Given the description of an element on the screen output the (x, y) to click on. 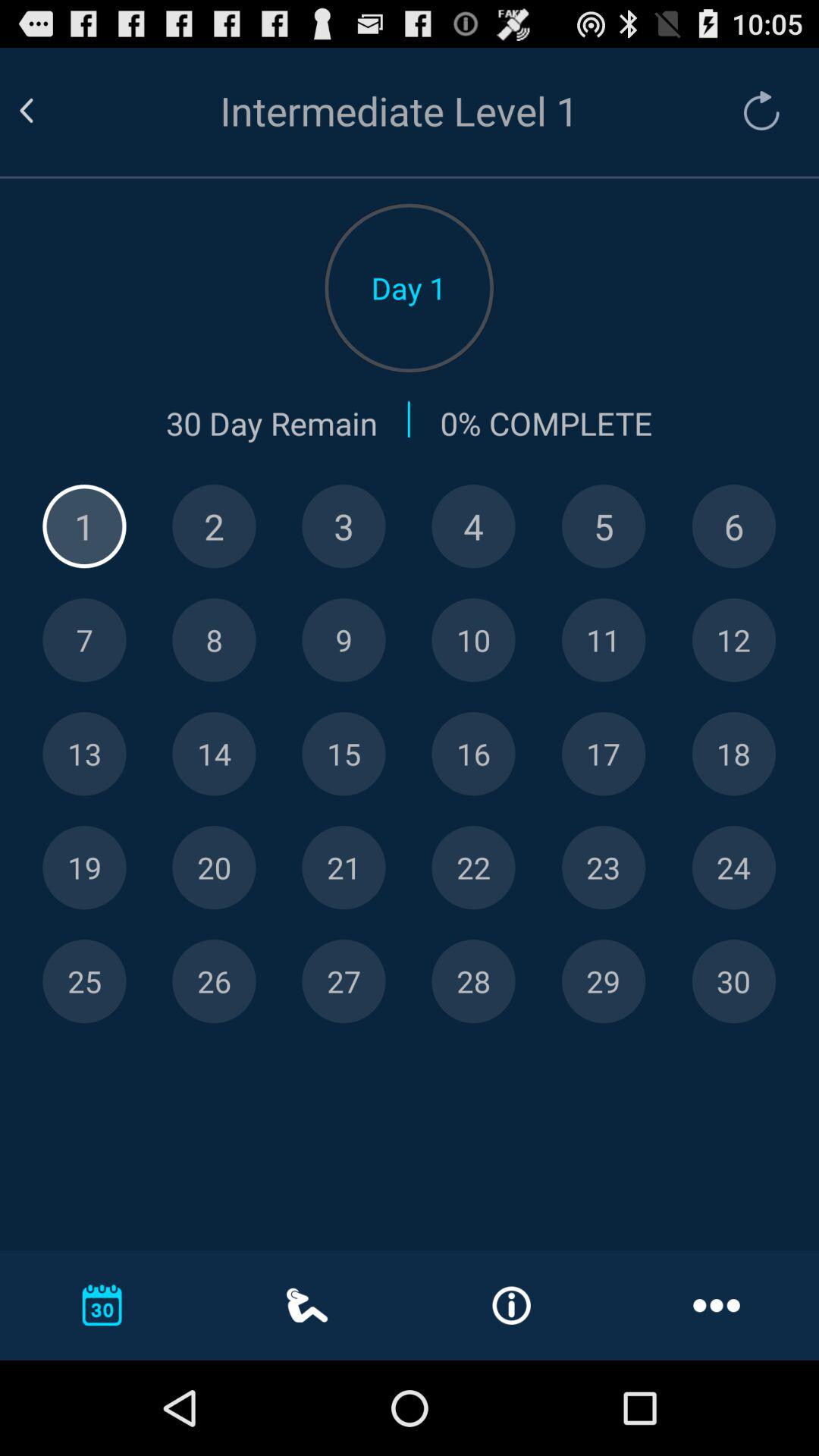
jump to day 3 (343, 526)
